Given the description of an element on the screen output the (x, y) to click on. 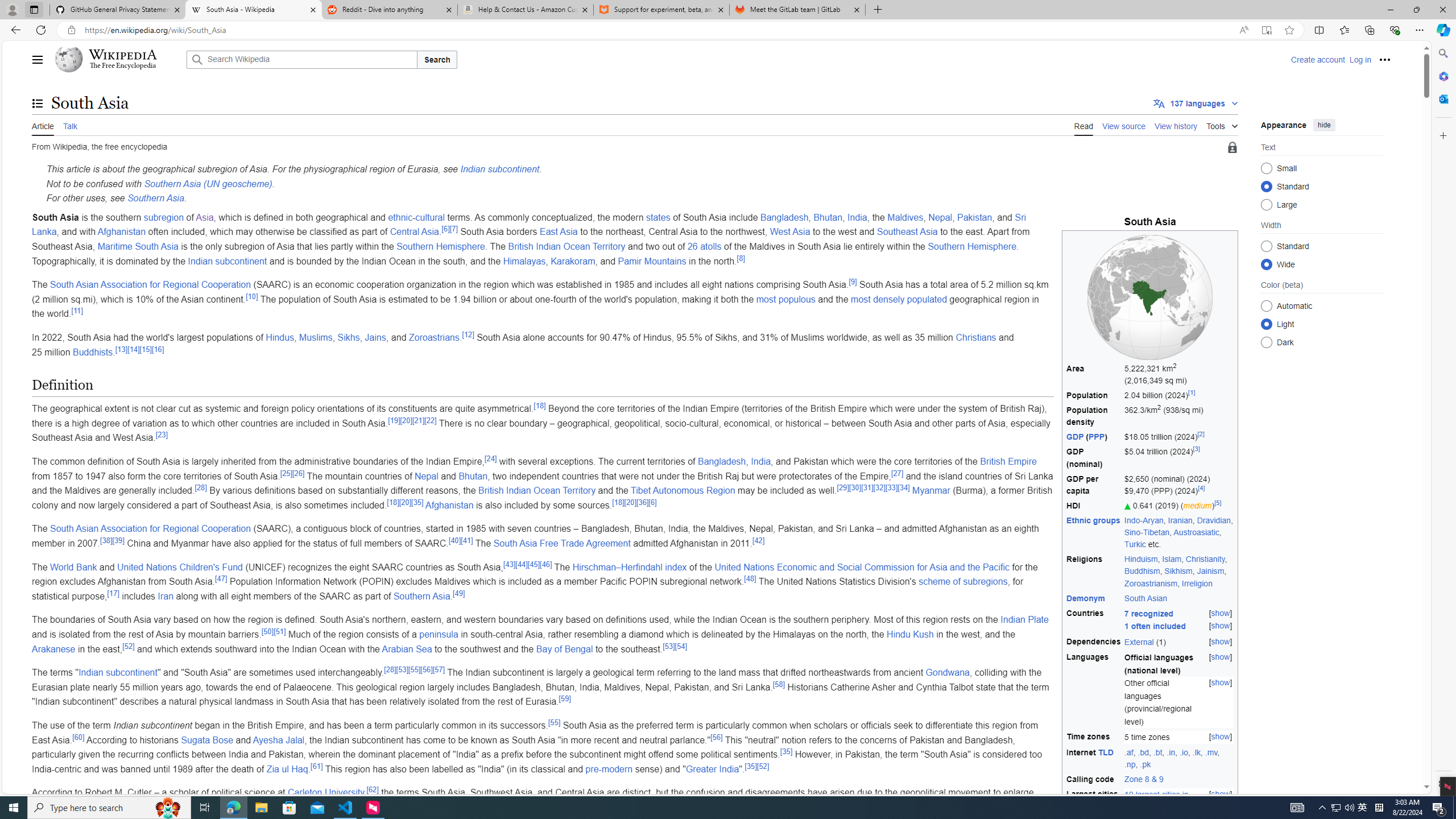
External (1139, 642)
[12] (467, 334)
Create account (1317, 58)
Turkic (1134, 544)
[5] (1217, 502)
$18.05 trillion (2024)[2] (1179, 436)
[show] 5 time zones (1179, 737)
Religions (1093, 571)
[50] (266, 630)
[24] (489, 457)
Talk (69, 124)
Demonym (1093, 598)
